Given the description of an element on the screen output the (x, y) to click on. 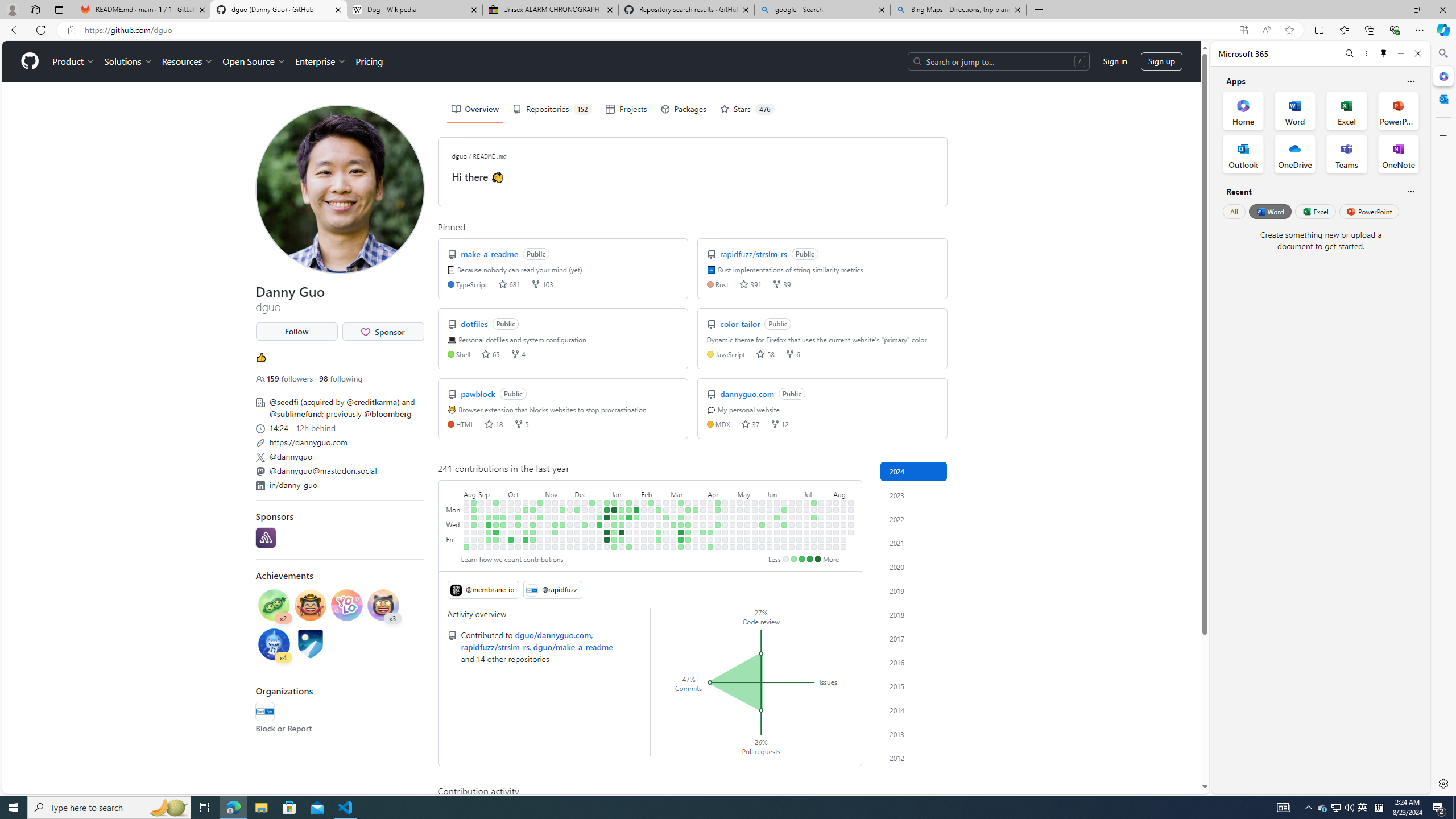
1 contribution on March 25th. (695, 509)
Contribution activity in 2020 (913, 566)
1 contribution on January 15th. (621, 509)
2 contributions on January 22nd. (628, 509)
No contributions on May 20th. (754, 509)
No contributions on May 17th. (747, 539)
11 contributions on January 18th. (621, 531)
No contributions on August 16th. (843, 539)
No contributions on January 6th. (607, 546)
@dannyguo (338, 454)
No contributions on July 17th. (813, 524)
dannyguo.com (748, 393)
No contributions on April 6th. (703, 546)
